Given the description of an element on the screen output the (x, y) to click on. 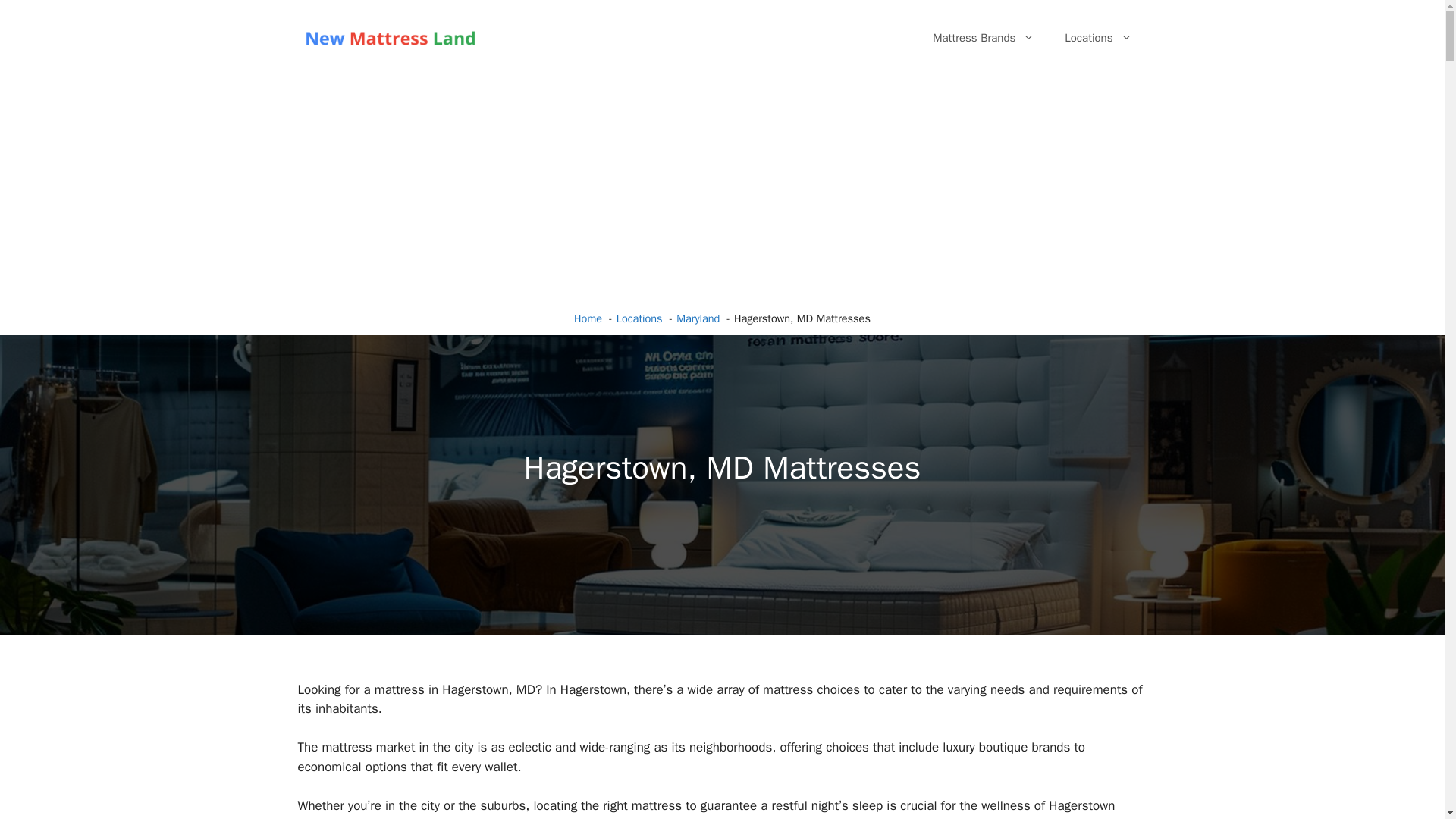
Maryland (698, 318)
Locations (638, 318)
Locations (1098, 37)
Home (587, 318)
Mattress Brands (983, 37)
